Given the description of an element on the screen output the (x, y) to click on. 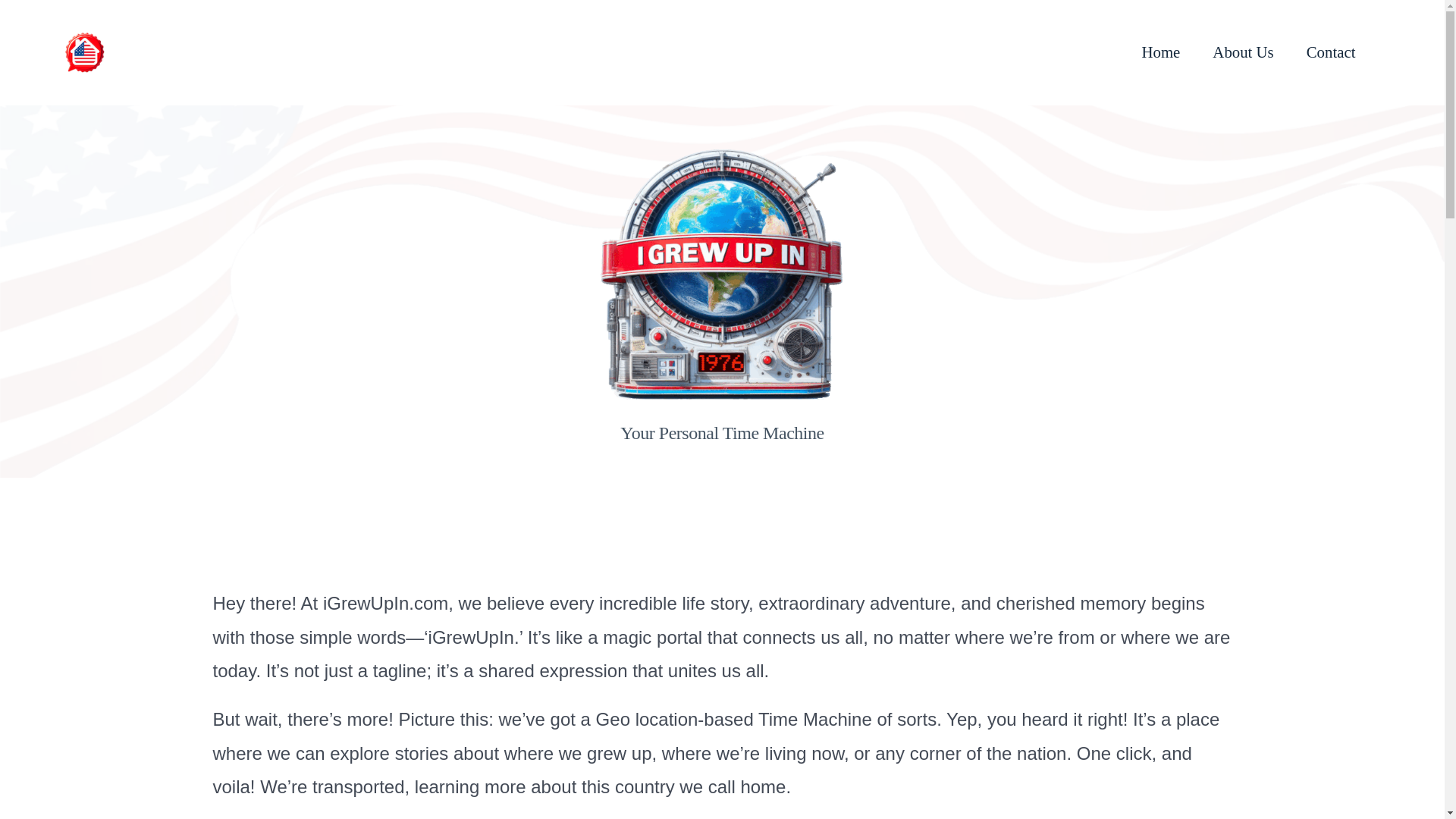
Contact (1330, 51)
Home (1160, 51)
About Us (1242, 51)
